Given the description of an element on the screen output the (x, y) to click on. 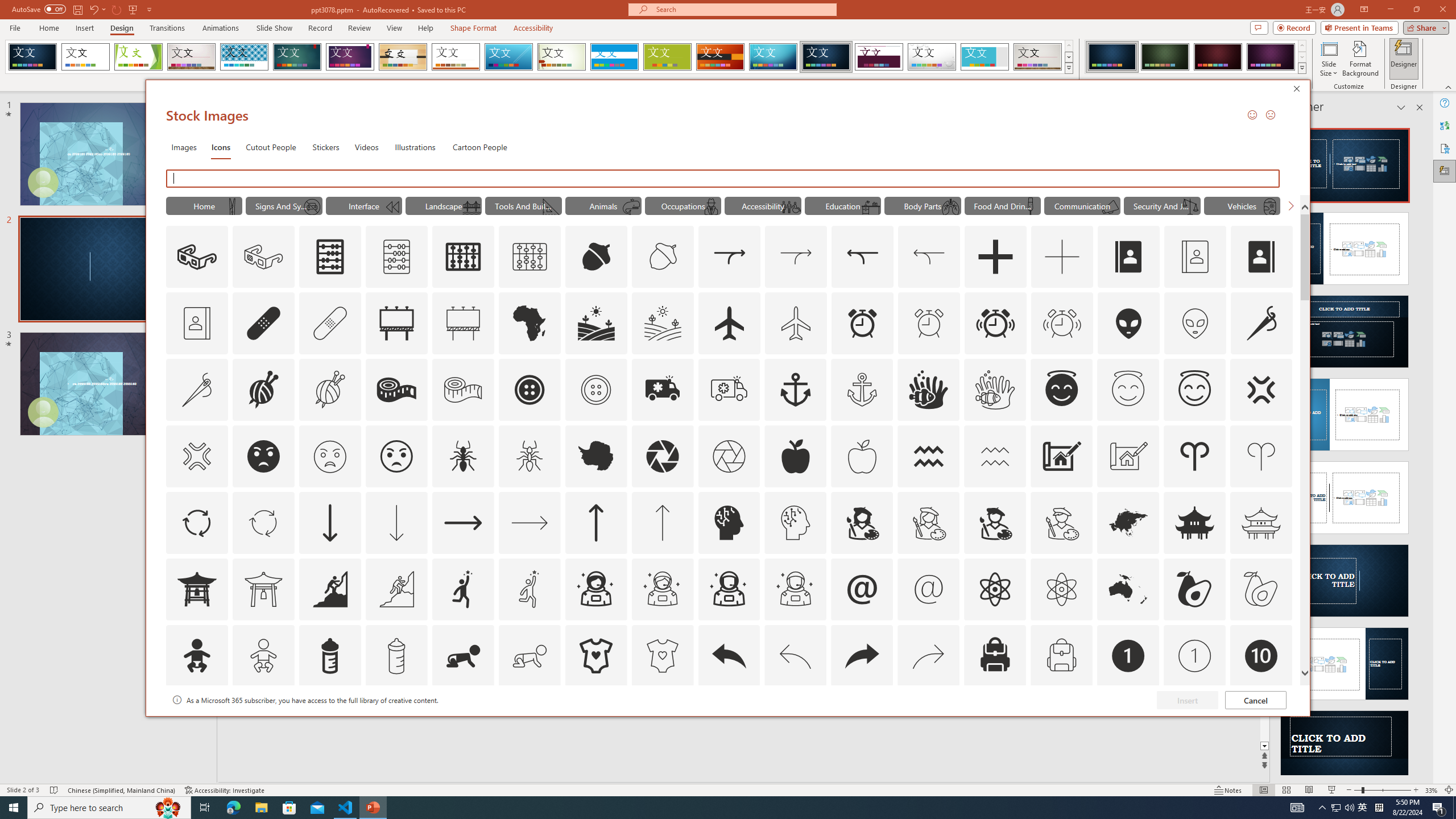
AutomationID: Icons_AlterationsTailoring1_M (329, 389)
AutomationID: ThemeVariantsGallery (1195, 56)
AutomationID: Icons_Champagne_M (1030, 206)
AutomationID: Icons_Avocado (1194, 588)
AutomationID: Icons_Add (995, 256)
AutomationID: Icons_AlterationsTailoring3 (529, 389)
AutomationID: Icons_AnemoneAndClownfish (928, 389)
Damask Variant 1 (1112, 56)
